Given the description of an element on the screen output the (x, y) to click on. 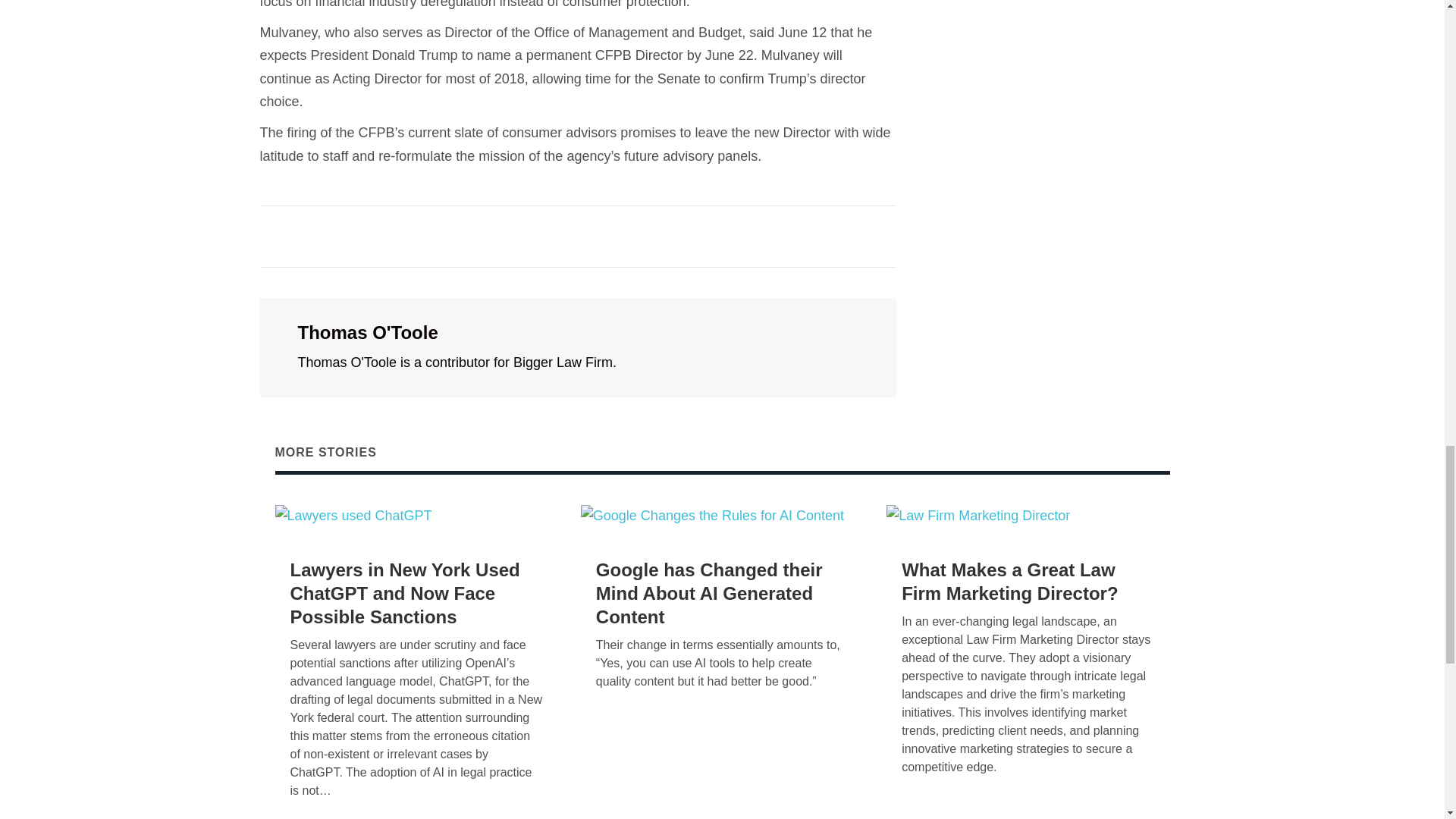
What Makes a Great Law Firm Marketing Director? (1009, 581)
Google has Changed their Mind About AI Generated Content (712, 515)
What Makes a Great Law Firm Marketing Director? (978, 515)
Google has Changed their Mind About AI Generated Content (708, 593)
